Given the description of an element on the screen output the (x, y) to click on. 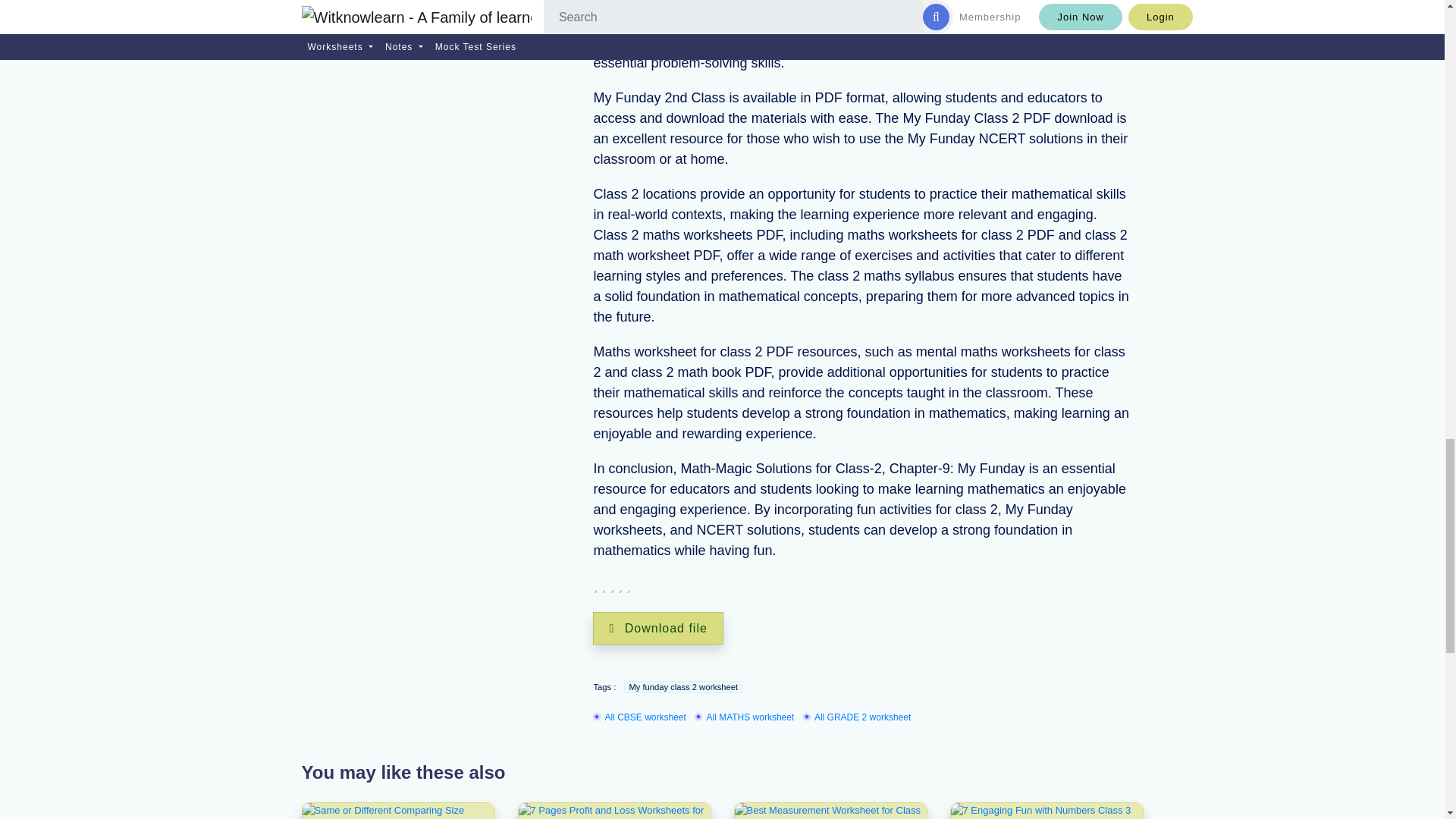
Best Measurement Worksheet for Class 5th with Answer Key (829, 811)
Same or Different Comparing Size Worksheets for Nursery  (397, 811)
